Given the description of an element on the screen output the (x, y) to click on. 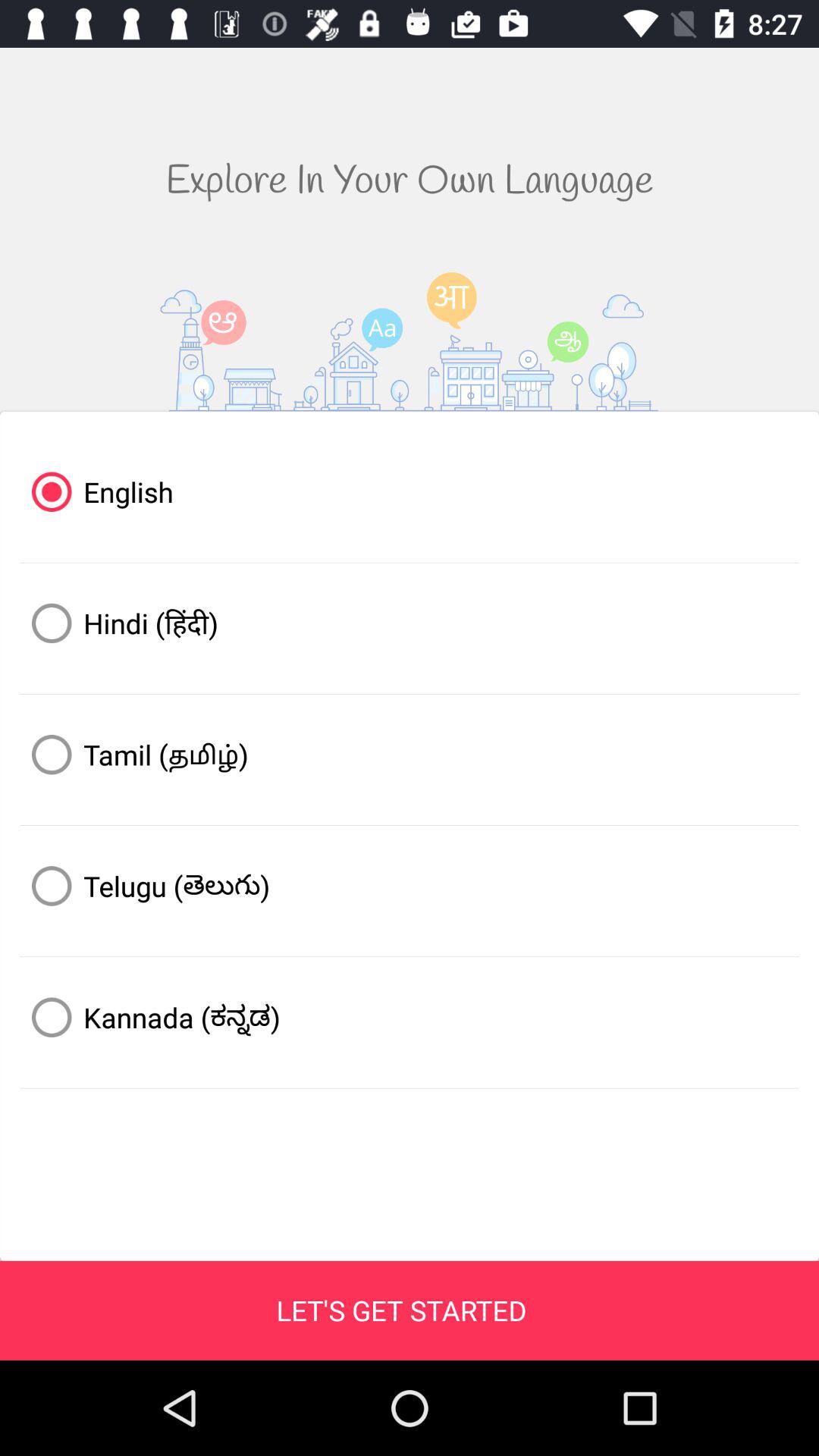
choose the english item (409, 491)
